Given the description of an element on the screen output the (x, y) to click on. 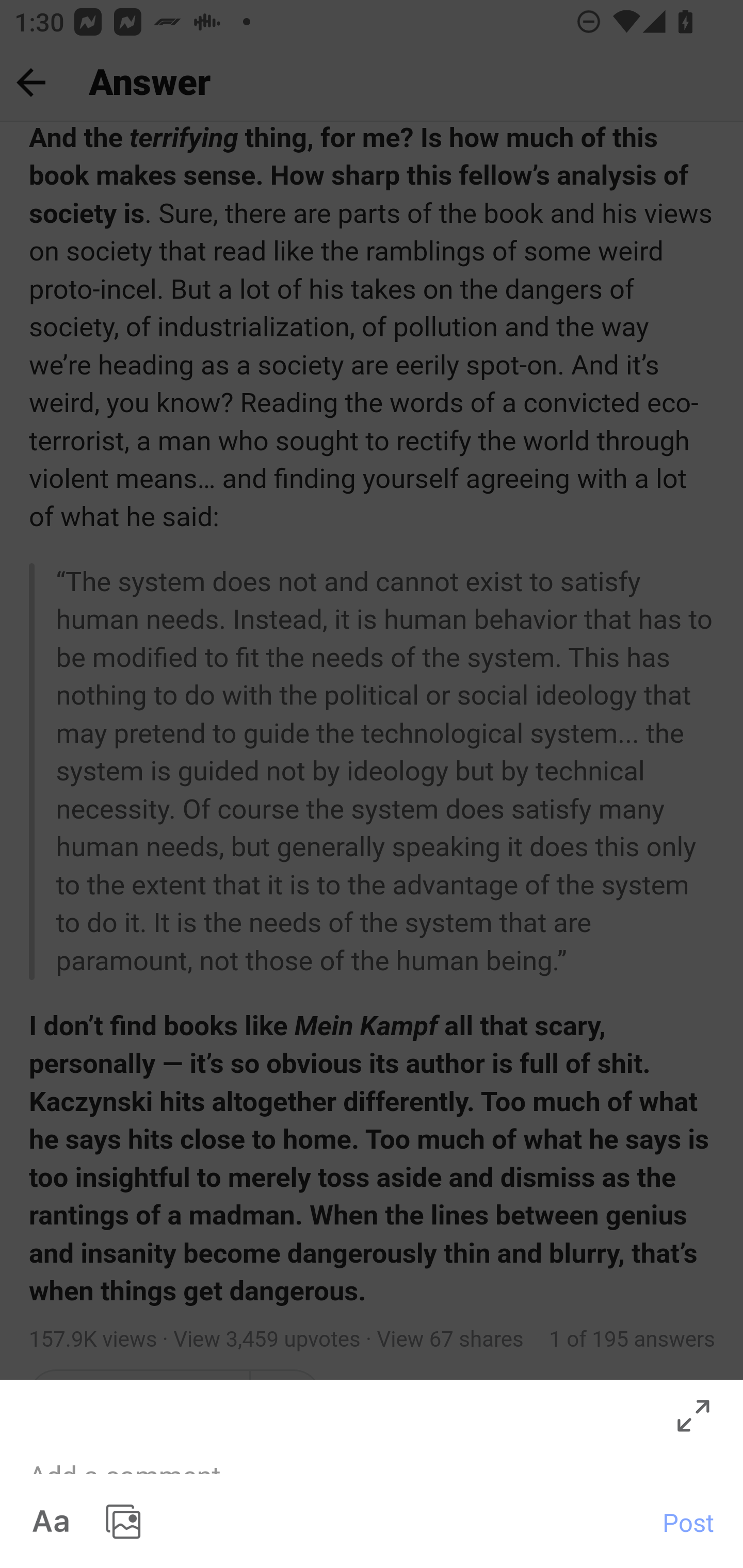
Post (687, 1521)
